Given the description of an element on the screen output the (x, y) to click on. 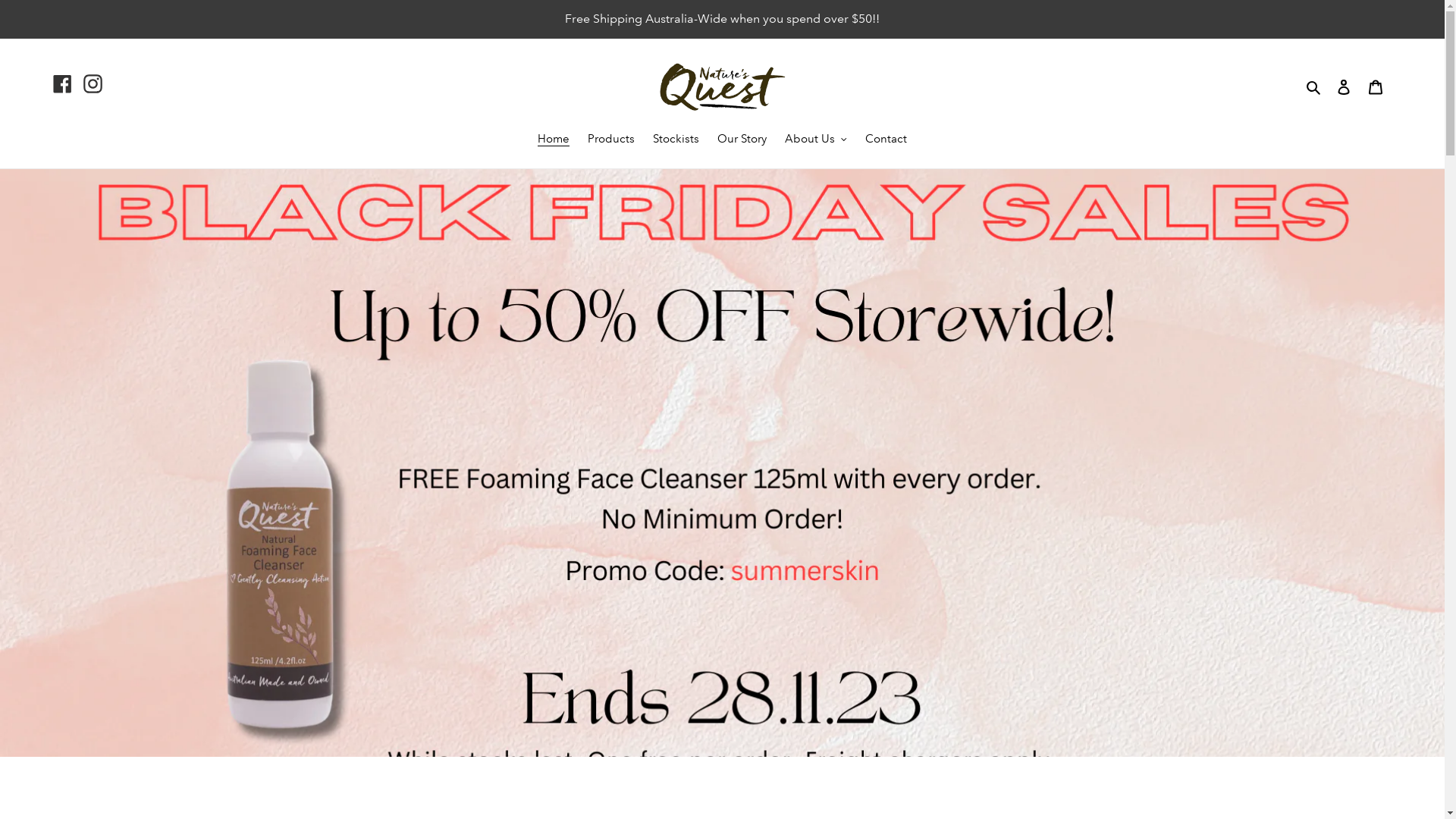
Home Element type: text (553, 140)
Instagram Element type: text (92, 83)
Log in Element type: text (1343, 86)
Cart Element type: text (1375, 86)
Contact Element type: text (885, 140)
Facebook Element type: text (62, 83)
Our Story Element type: text (741, 140)
Search Element type: text (1314, 86)
Stockists Element type: text (675, 140)
About Us Element type: text (815, 140)
Products Element type: text (611, 140)
